Given the description of an element on the screen output the (x, y) to click on. 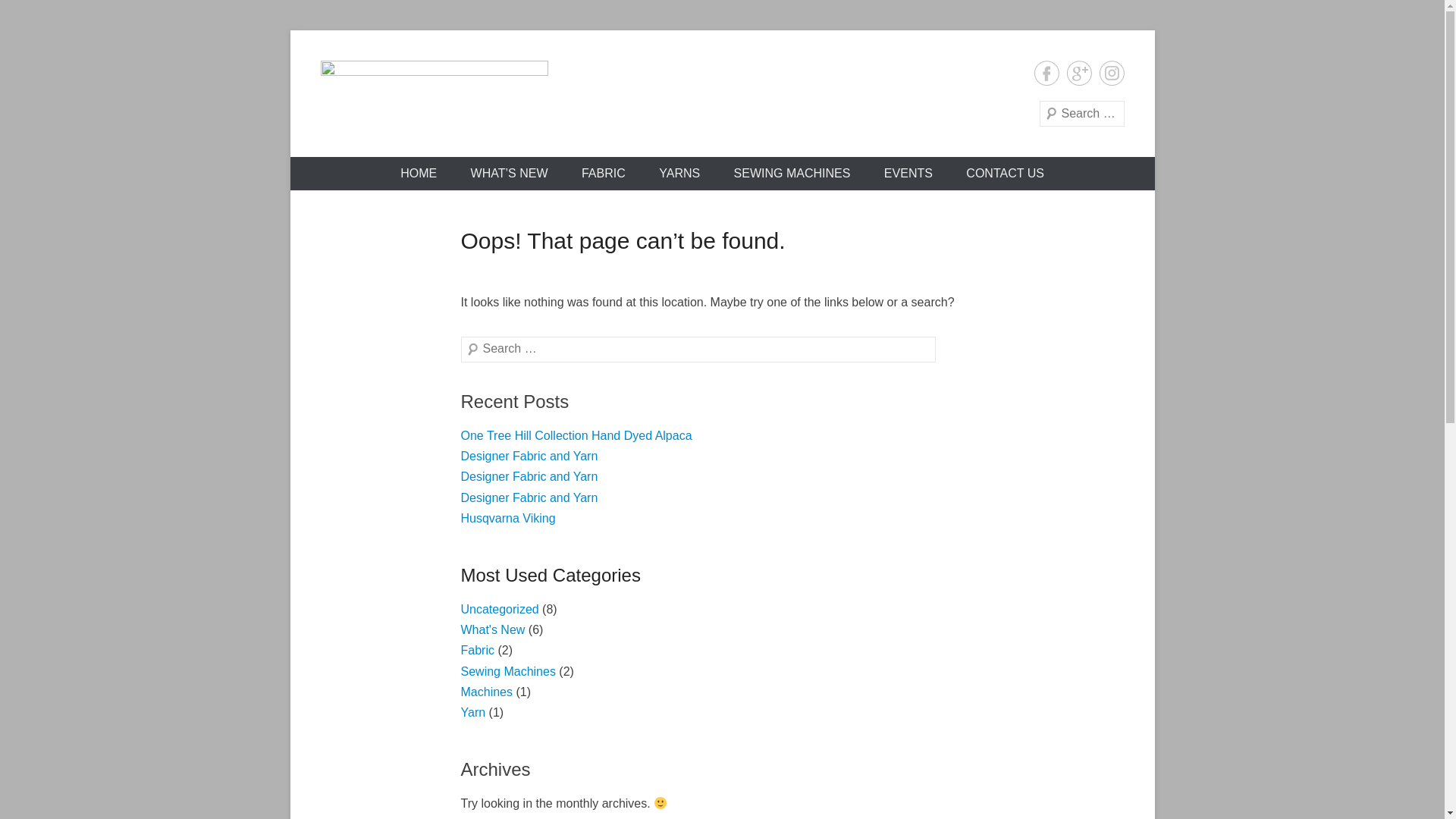
Designer Fabric and Yarn Element type: text (529, 455)
Skip to content Element type: text (289, 29)
One Tree Hill Collection Hand Dyed Alpaca Element type: text (576, 435)
YARNS Element type: text (679, 173)
Uncategorized Element type: text (500, 608)
Designer Fabric and Yarn Element type: text (529, 497)
Husqvarna Viking Element type: text (508, 517)
Fabric Element type: text (477, 649)
EVENTS Element type: text (908, 173)
Google+ Element type: text (1078, 72)
Search Element type: text (32, 15)
SEWING MACHINES Element type: text (792, 173)
Machines Element type: text (486, 691)
Instagram Element type: text (1111, 72)
FABRIC Element type: text (603, 173)
Sewing Machines Element type: text (508, 671)
HOME Element type: text (418, 173)
Yarn Element type: text (473, 712)
What's New Element type: text (493, 629)
Designer Fabric and Yarn Element type: text (529, 476)
CONTACT US Element type: text (1004, 173)
Facebook Element type: text (1046, 72)
